Given the description of an element on the screen output the (x, y) to click on. 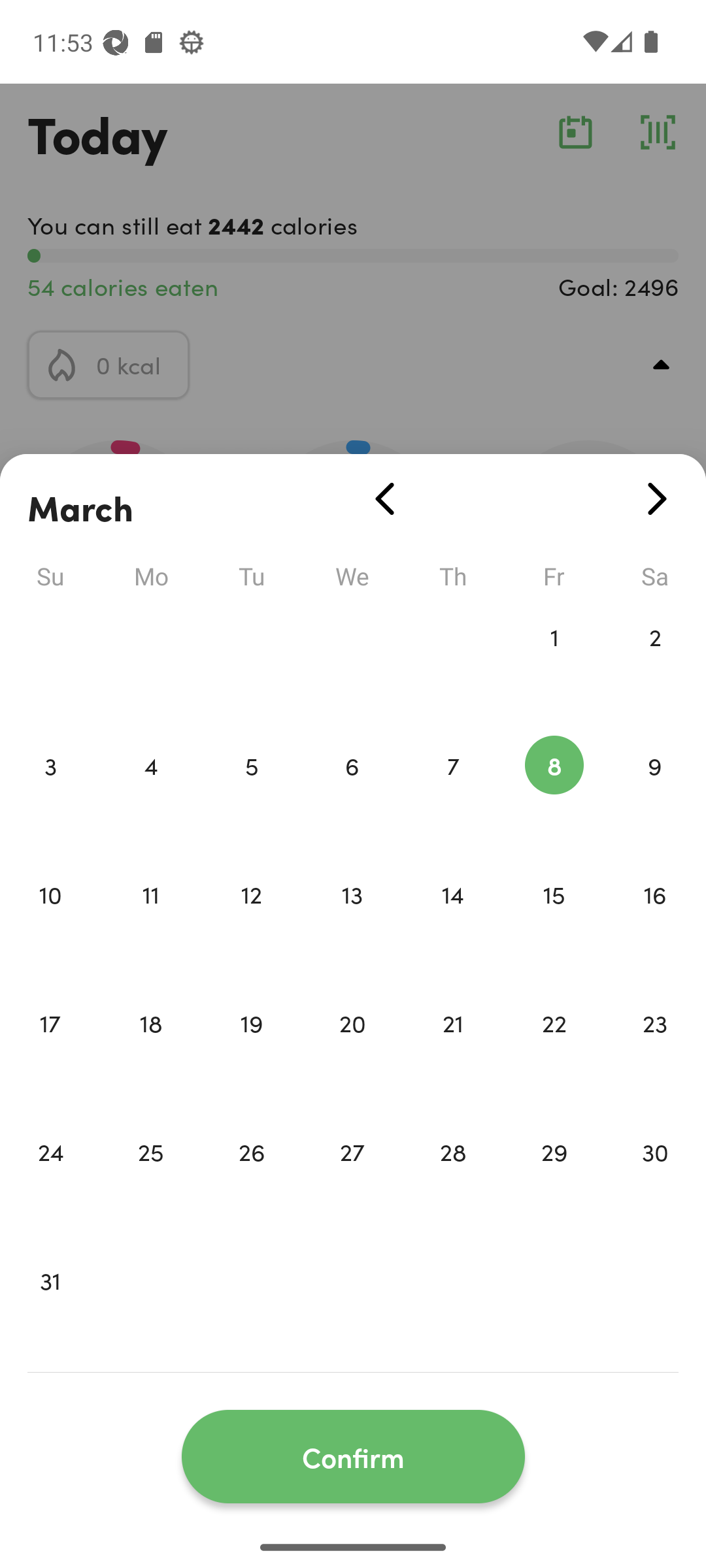
1 (554, 663)
2 (655, 663)
3 (50, 793)
4 (150, 793)
5 (251, 793)
6 (352, 793)
7 (453, 793)
8 (554, 793)
9 (655, 793)
10 (50, 921)
11 (150, 921)
12 (251, 921)
13 (352, 921)
14 (453, 921)
15 (554, 921)
16 (655, 921)
17 (50, 1050)
18 (150, 1050)
19 (251, 1050)
20 (352, 1050)
21 (453, 1050)
22 (554, 1050)
23 (655, 1050)
24 (50, 1178)
25 (150, 1178)
26 (251, 1178)
27 (352, 1178)
28 (453, 1178)
29 (554, 1178)
30 (655, 1178)
31 (50, 1307)
Confirm (353, 1456)
